Given the description of an element on the screen output the (x, y) to click on. 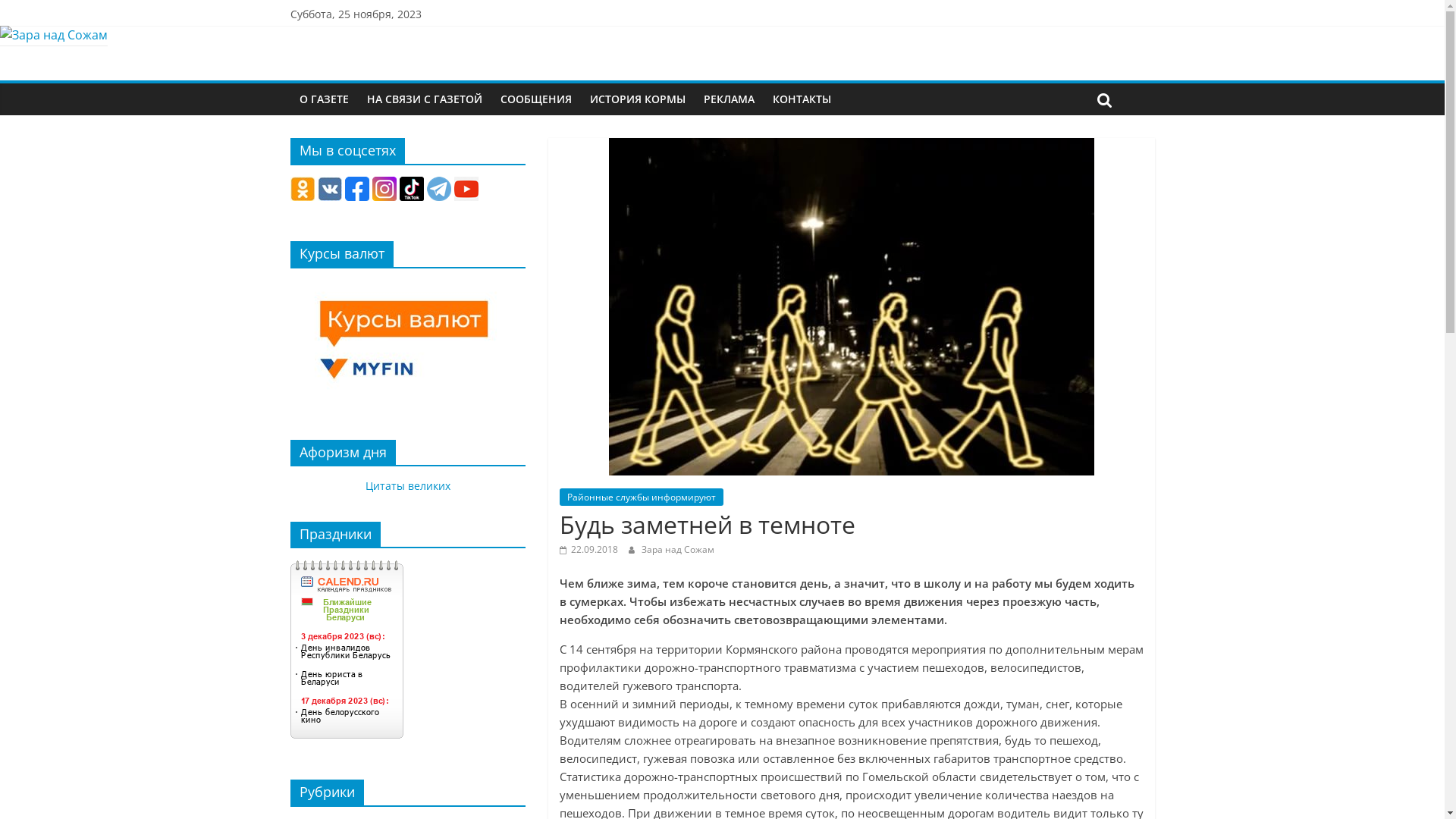
22.09.2018 Element type: text (588, 548)
